Given the description of an element on the screen output the (x, y) to click on. 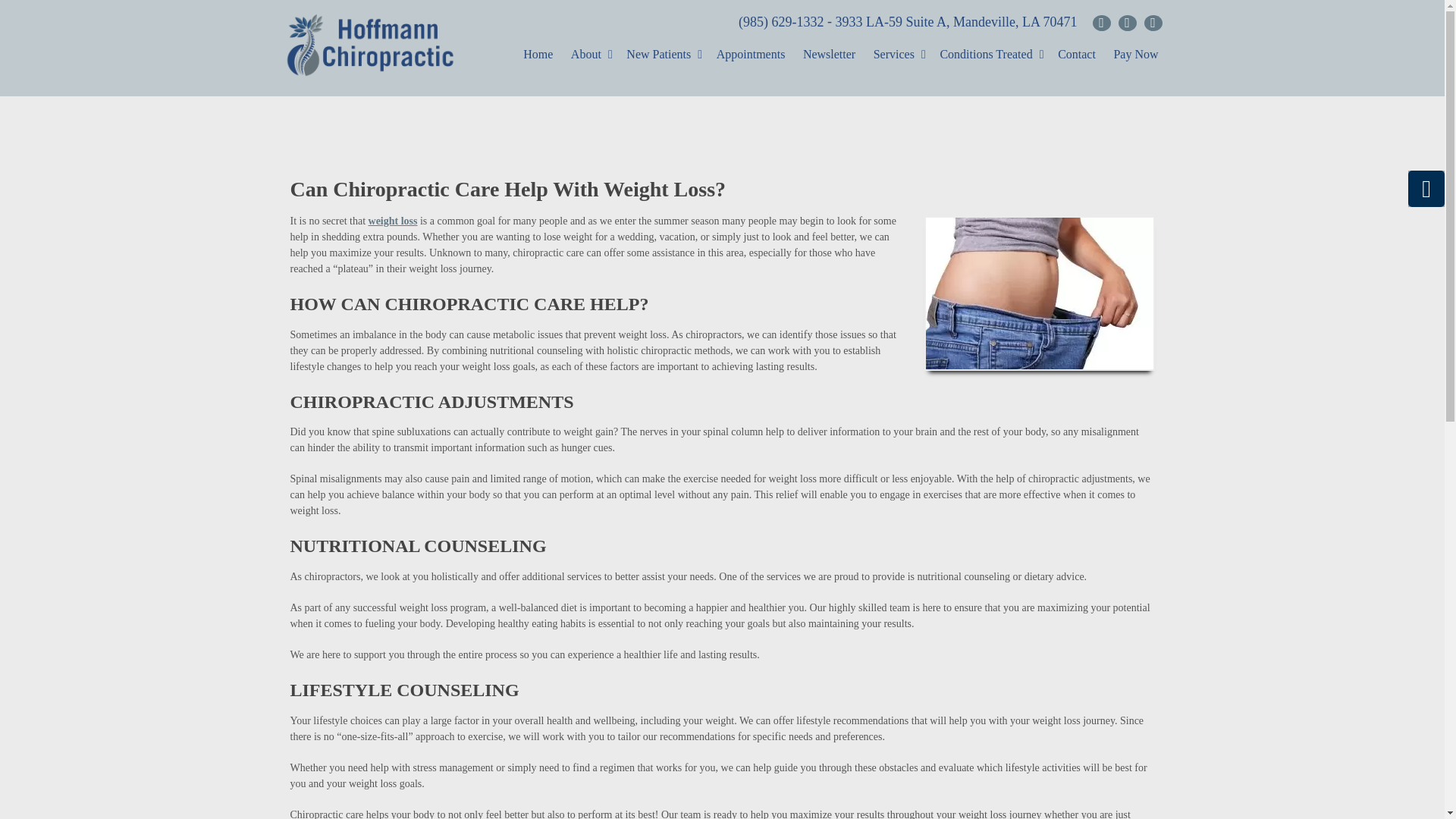
Appointments (758, 54)
Newsletter (835, 54)
Conditions Treated (1000, 54)
Contact (1083, 54)
Pay Now (1142, 54)
New Patients (673, 54)
Services (909, 54)
About (601, 54)
Home (545, 54)
3933 LA-59 Suite A, Mandeville, LA 70471 (956, 22)
